Given the description of an element on the screen output the (x, y) to click on. 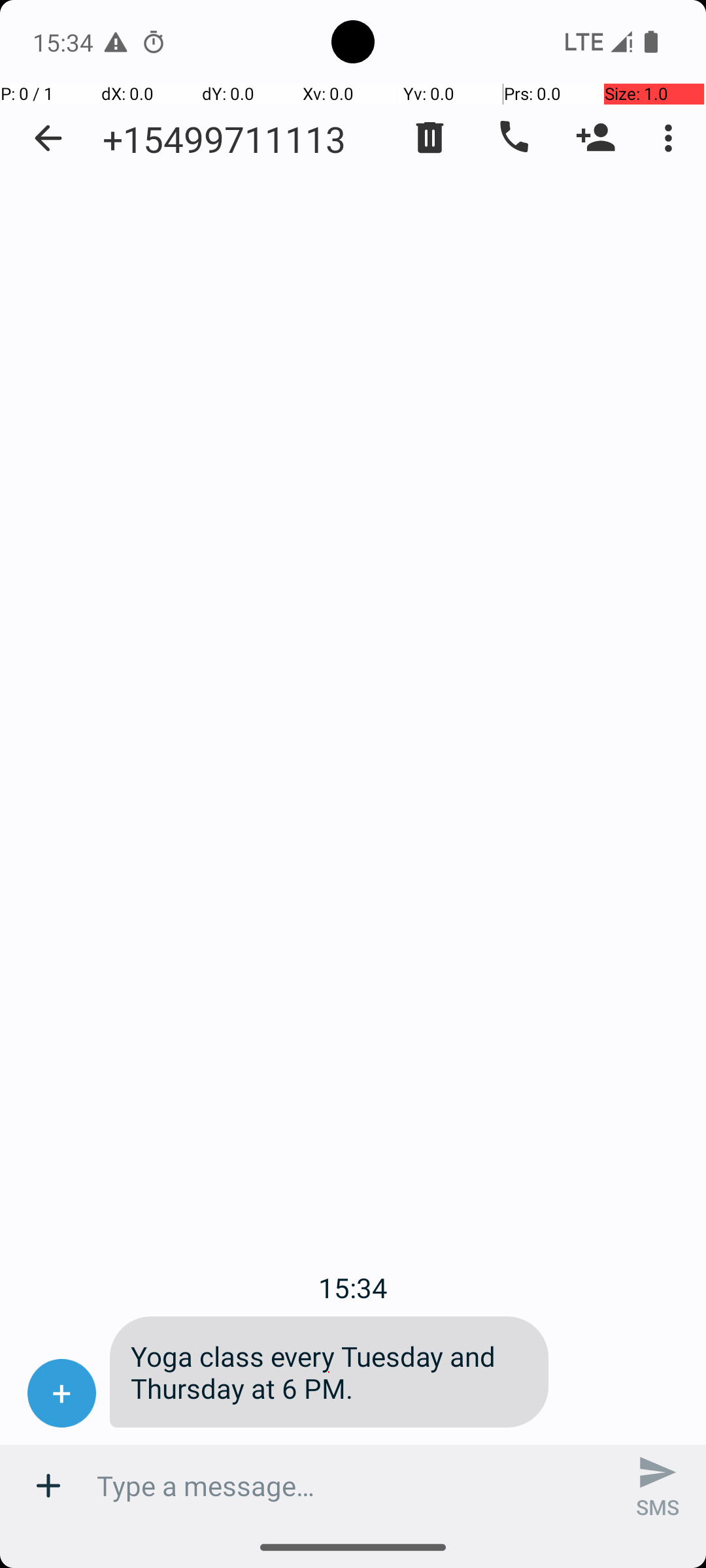
+15499711113 Element type: android.widget.TextView (223, 138)
Dial number Element type: android.widget.Button (512, 137)
Add Person Element type: android.widget.Button (595, 137)
Attachment Element type: android.widget.ImageView (48, 1485)
Type a message… Element type: android.widget.EditText (352, 1485)
SMS Element type: android.widget.Button (657, 1485)
Yoga class every Tuesday and Thursday at 6 PM. Element type: android.widget.TextView (328, 1371)
